Given the description of an element on the screen output the (x, y) to click on. 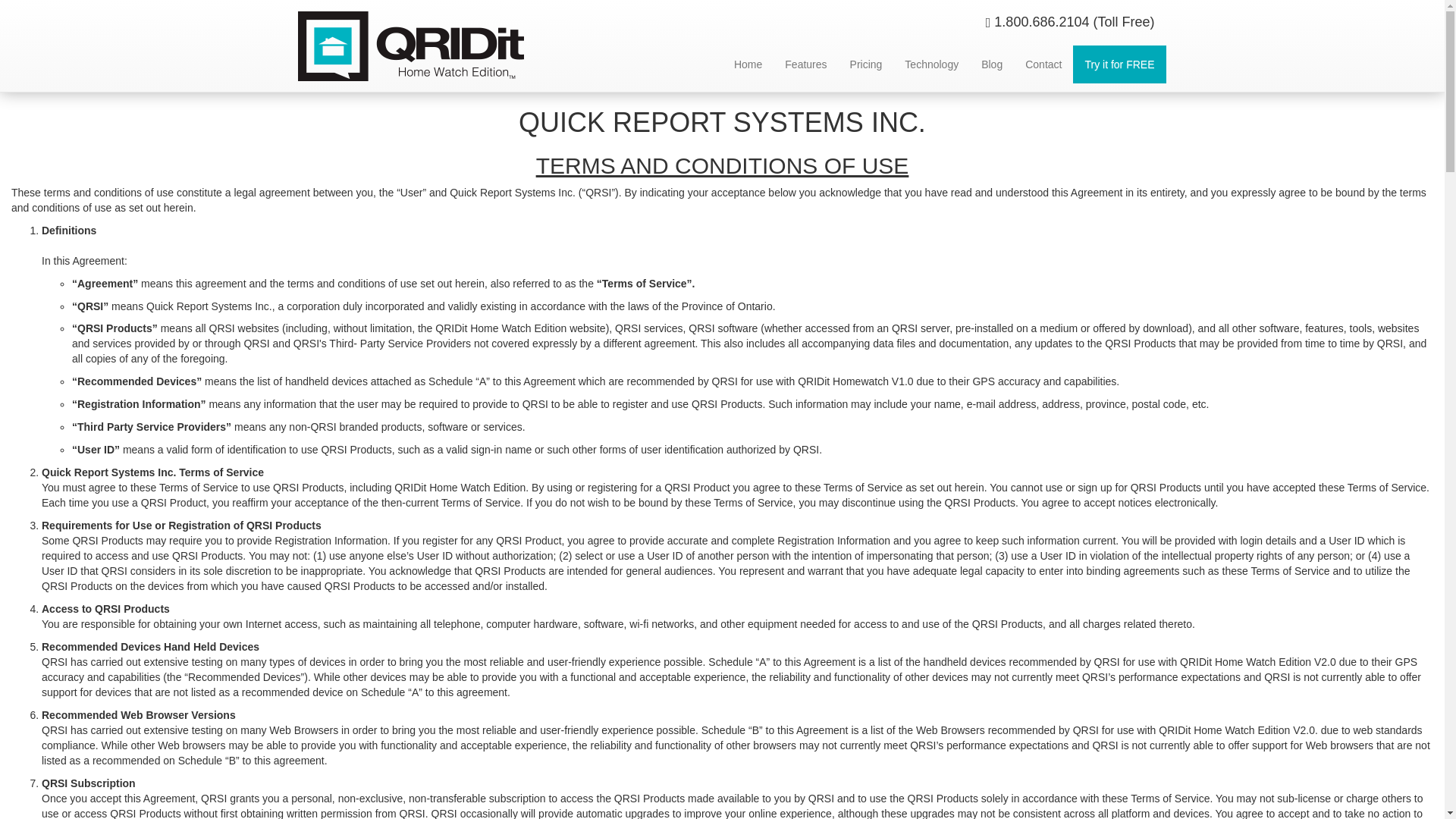
Home (747, 64)
Features (805, 64)
Contact (1043, 64)
Technology (931, 64)
Try it for FREE (1119, 64)
Pricing (865, 64)
Blog (991, 64)
